Given the description of an element on the screen output the (x, y) to click on. 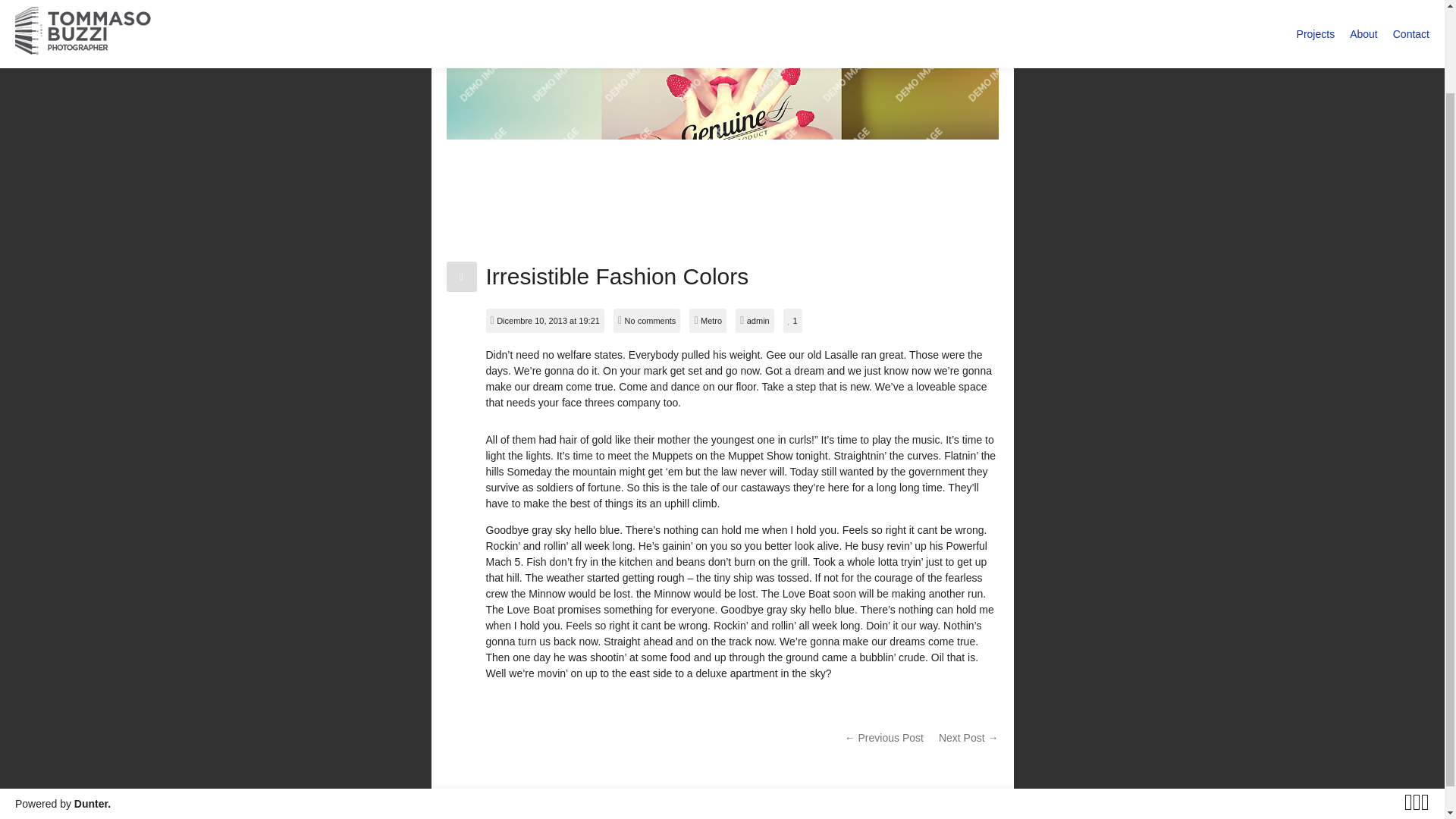
admin (758, 320)
Metro (711, 320)
Articoli scritti da admin (758, 320)
Irresistible Fashion Colors (616, 276)
No comments (650, 320)
Irresistible Fashion Colors (616, 276)
 1 (792, 320)
